Given the description of an element on the screen output the (x, y) to click on. 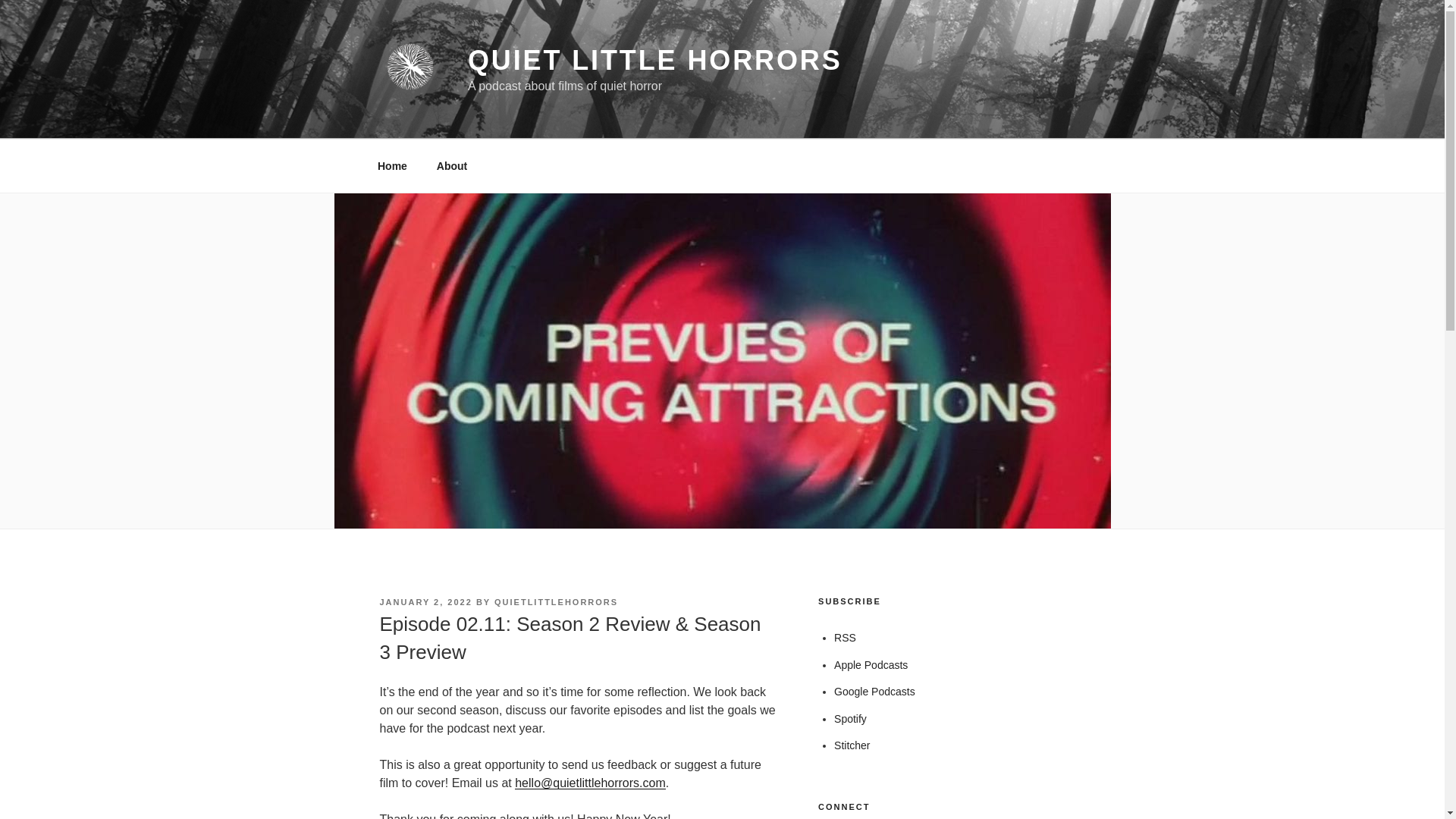
QUIET LITTLE HORRORS (655, 60)
RSS (845, 637)
Stitcher (851, 745)
JANUARY 2, 2022 (424, 601)
Google Podcasts (874, 691)
About (451, 165)
Apple Podcasts (870, 664)
Home (392, 165)
Spotify (850, 718)
QUIETLITTLEHORRORS (556, 601)
